Given the description of an element on the screen output the (x, y) to click on. 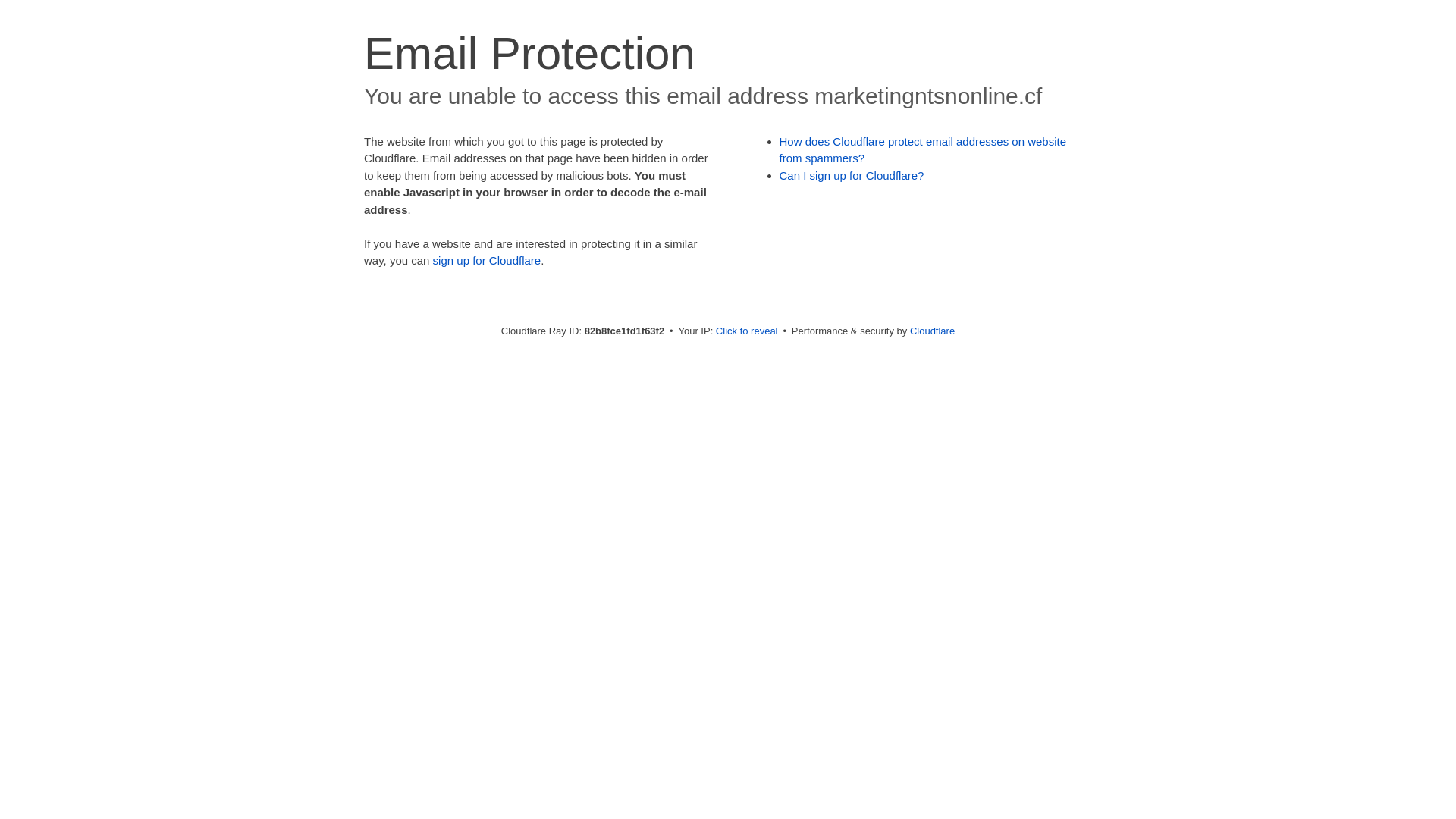
sign up for Cloudflare Element type: text (487, 260)
Cloudflare Element type: text (932, 330)
Click to reveal Element type: text (746, 330)
Can I sign up for Cloudflare? Element type: text (851, 175)
